Given the description of an element on the screen output the (x, y) to click on. 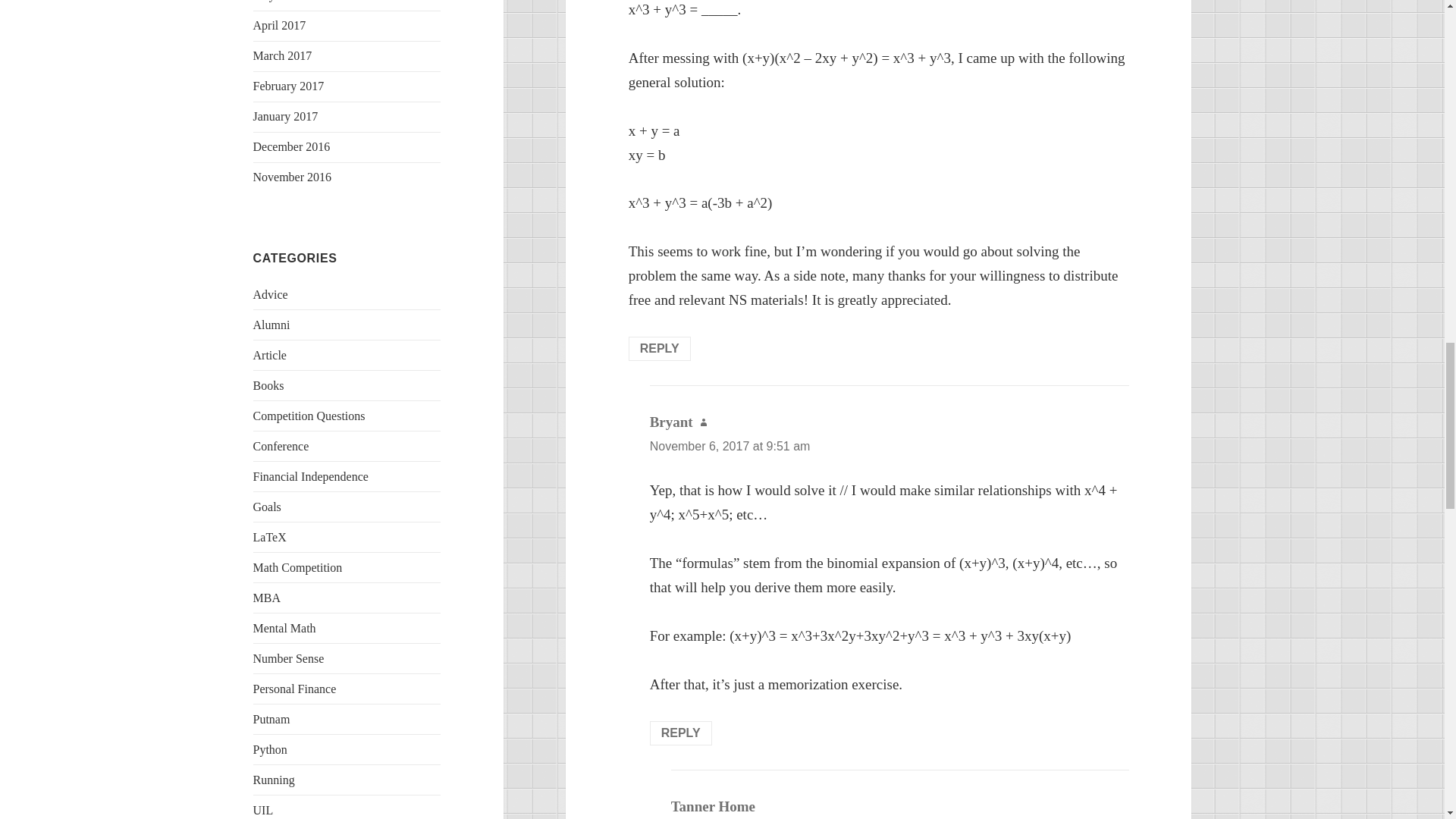
April 2017 (279, 24)
May 2017 (277, 0)
December 2016 (291, 146)
February 2017 (288, 85)
January 2017 (285, 115)
March 2017 (283, 55)
